Given the description of an element on the screen output the (x, y) to click on. 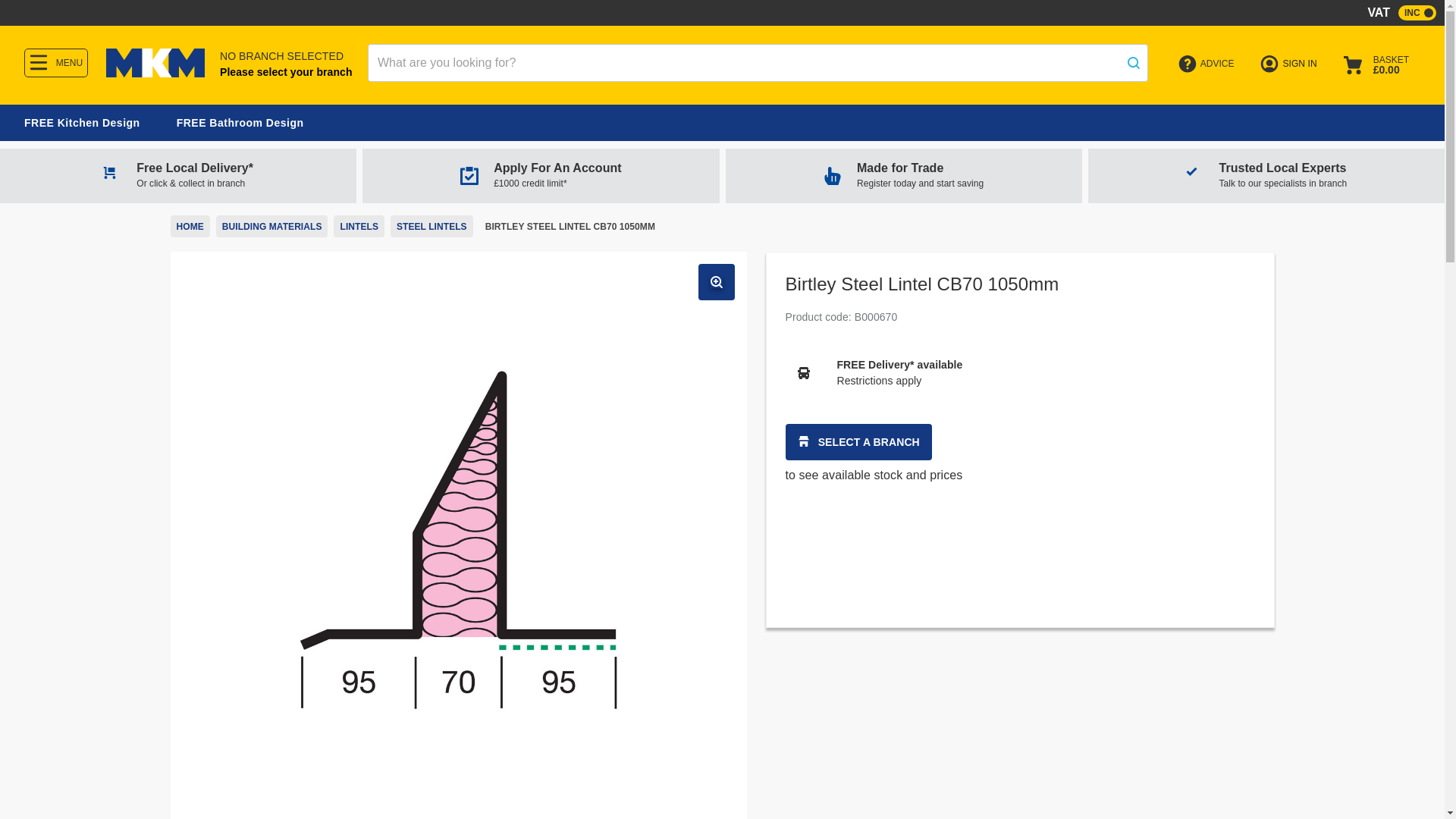
MENU (55, 62)
MKM Logo (155, 62)
SIGN IN (1290, 63)
FREE Bathroom Design (240, 122)
ADVICE (1208, 63)
MKM Logo (155, 73)
Please select your branch (903, 175)
FREE Kitchen Design (285, 72)
